Given the description of an element on the screen output the (x, y) to click on. 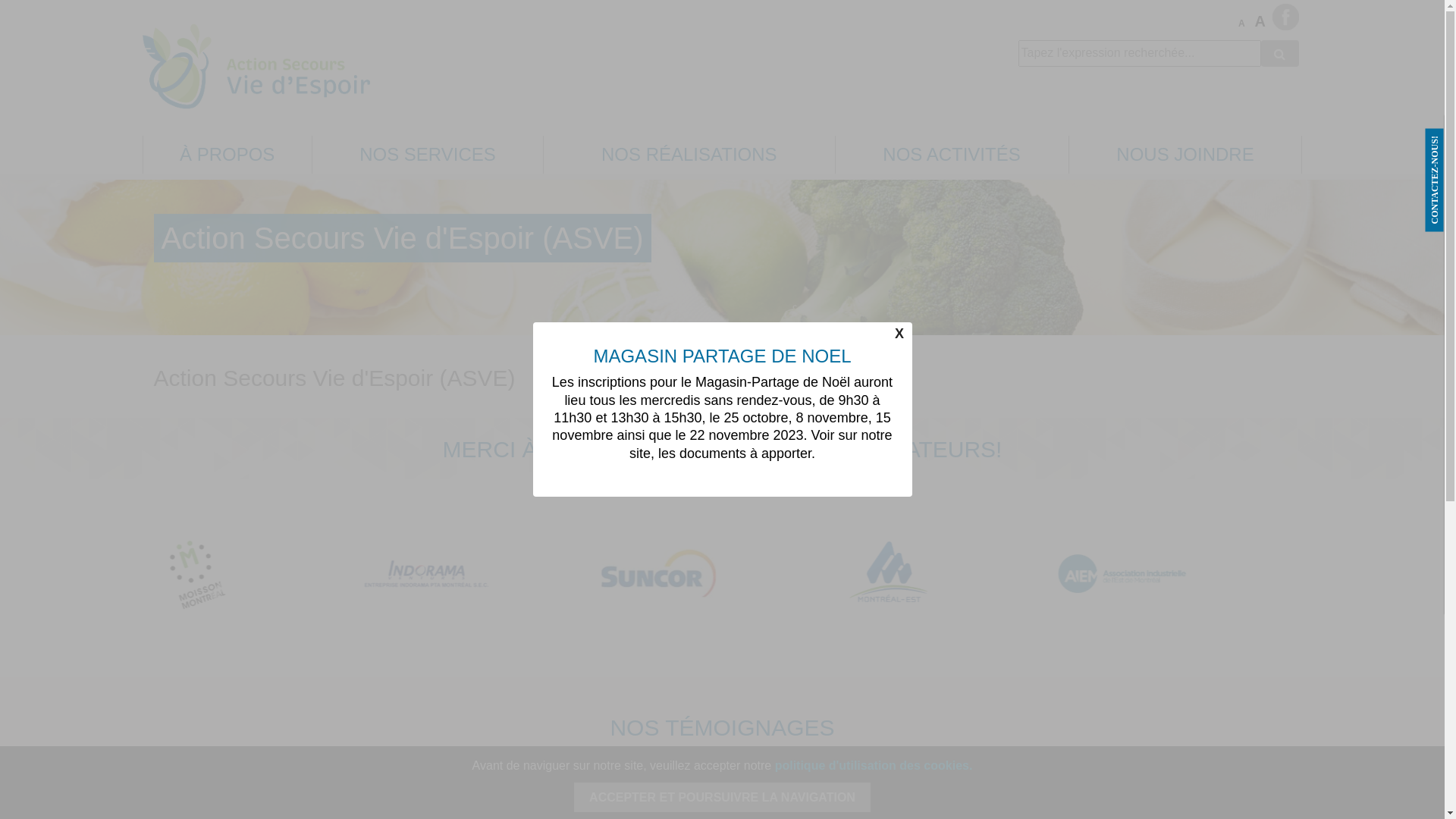
A Element type: text (1260, 21)
A Element type: text (1244, 23)
X Element type: text (898, 334)
ACCEPTER ET POURSUIVRE LA NAVIGATION Element type: text (722, 797)
politique d'utilisation des cookies. Element type: text (873, 765)
NOS SERVICES Element type: text (427, 153)
NOUS JOINDRE Element type: text (1185, 153)
